Given the description of an element on the screen output the (x, y) to click on. 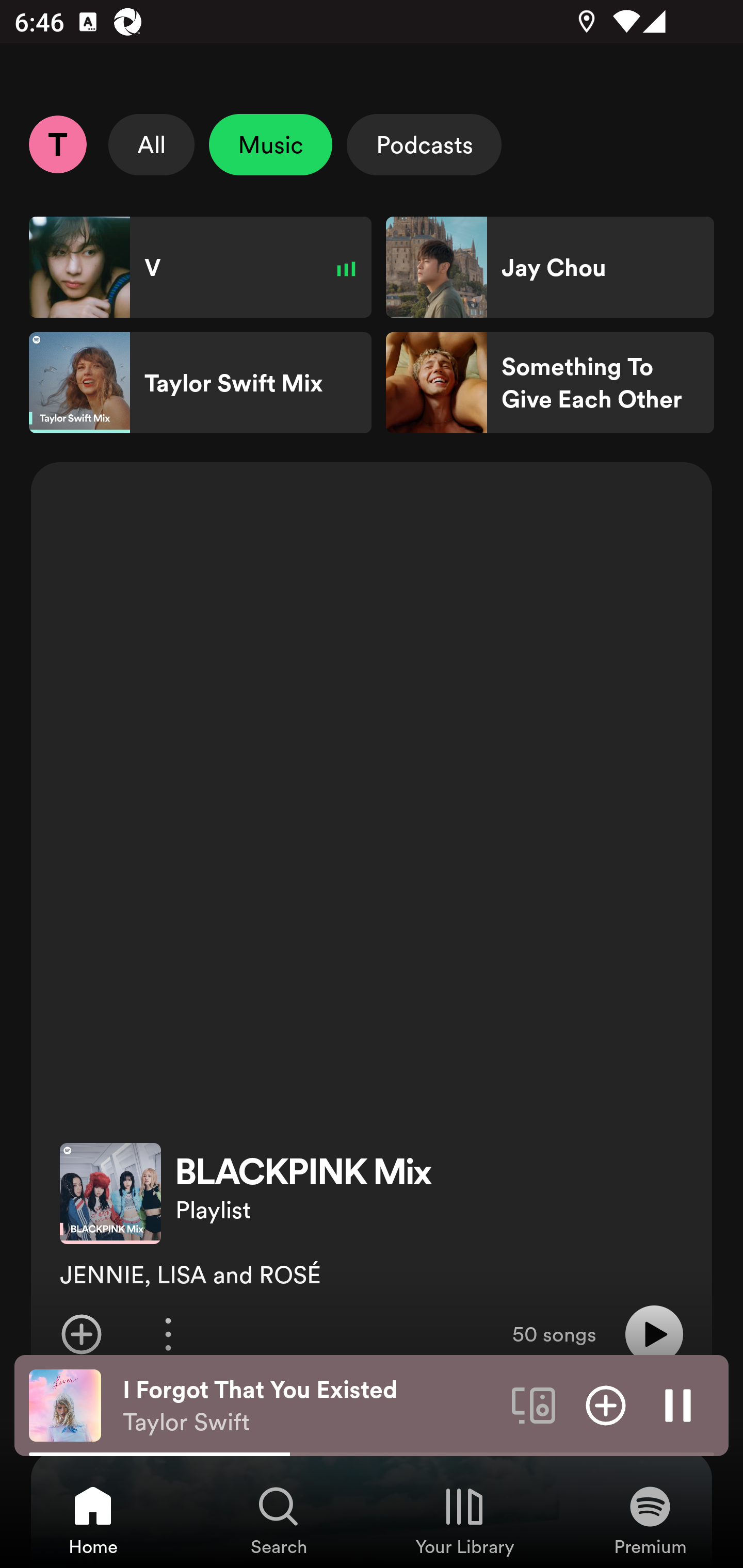
Profile (57, 144)
All Select All (151, 144)
Music Unselect Music (270, 144)
Podcasts Select Podcasts (423, 144)
V Shortcut V Playing (199, 267)
Jay Chou Shortcut Jay Chou (549, 267)
Taylor Swift Mix Shortcut Taylor Swift Mix (199, 382)
Add item (80, 1334)
Play (653, 1334)
I Forgot That You Existed Taylor Swift (309, 1405)
The cover art of the currently playing track (64, 1404)
Connect to a device. Opens the devices menu (533, 1404)
Add item (605, 1404)
Pause (677, 1404)
Home, Tab 1 of 4 Home Home (92, 1519)
Search, Tab 2 of 4 Search Search (278, 1519)
Your Library, Tab 3 of 4 Your Library Your Library (464, 1519)
Premium, Tab 4 of 4 Premium Premium (650, 1519)
